Given the description of an element on the screen output the (x, y) to click on. 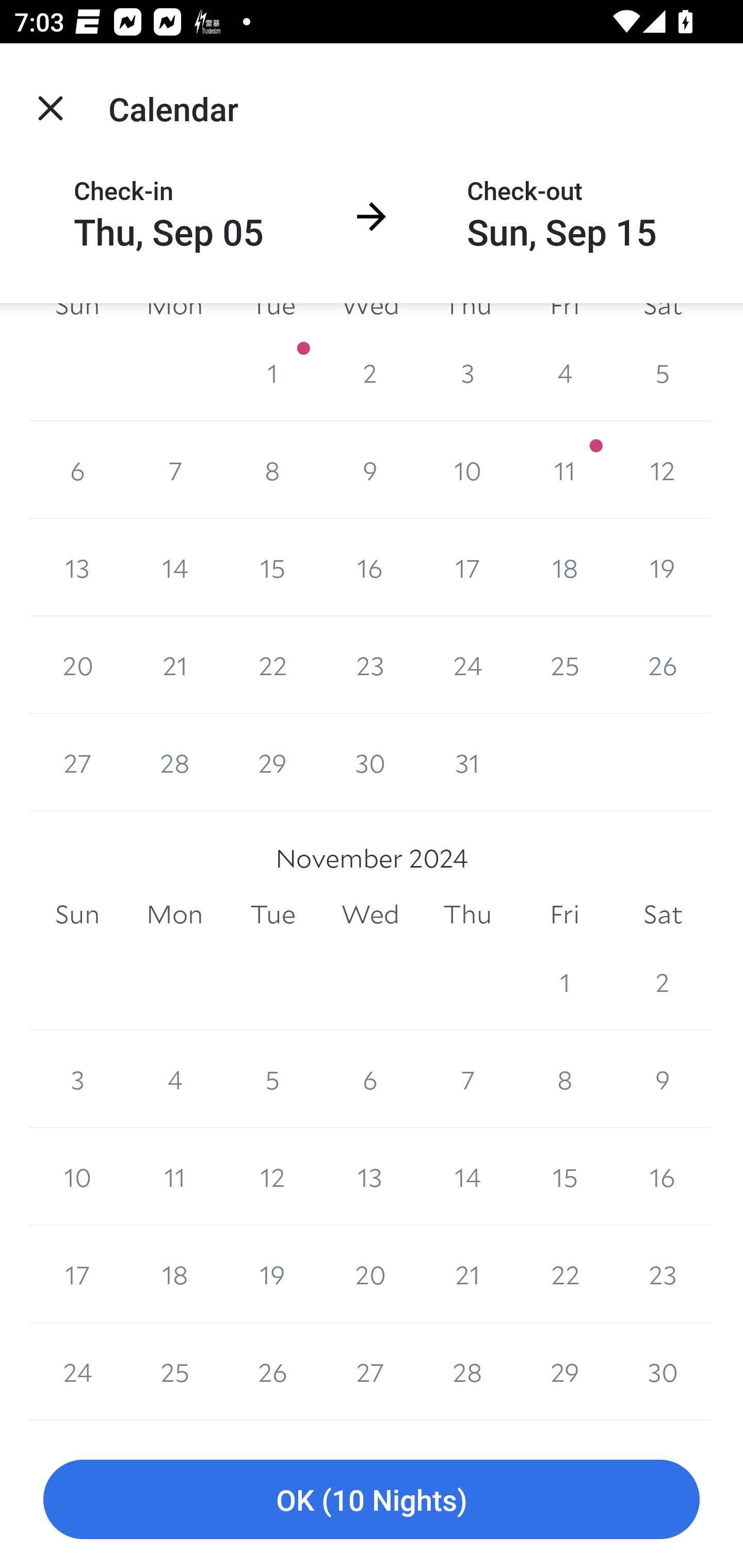
1 1 October 2024 (272, 372)
2 2 October 2024 (370, 372)
3 3 October 2024 (467, 372)
4 4 October 2024 (564, 372)
5 5 October 2024 (662, 372)
6 6 October 2024 (77, 470)
7 7 October 2024 (174, 470)
8 8 October 2024 (272, 470)
9 9 October 2024 (370, 470)
10 10 October 2024 (467, 470)
11 11 October 2024 (564, 470)
12 12 October 2024 (662, 470)
13 13 October 2024 (77, 567)
14 14 October 2024 (174, 567)
15 15 October 2024 (272, 567)
16 16 October 2024 (370, 567)
17 17 October 2024 (467, 567)
18 18 October 2024 (564, 567)
19 19 October 2024 (662, 567)
20 20 October 2024 (77, 664)
21 21 October 2024 (174, 664)
22 22 October 2024 (272, 664)
23 23 October 2024 (370, 664)
24 24 October 2024 (467, 664)
25 25 October 2024 (564, 664)
26 26 October 2024 (662, 664)
27 27 October 2024 (77, 761)
28 28 October 2024 (174, 761)
29 29 October 2024 (272, 761)
30 30 October 2024 (370, 761)
31 31 October 2024 (467, 761)
Sun (77, 913)
Mon (174, 913)
Tue (272, 913)
Wed (370, 913)
Thu (467, 913)
Fri (564, 913)
Sat (662, 913)
1 1 November 2024 (564, 981)
2 2 November 2024 (662, 981)
3 3 November 2024 (77, 1078)
4 4 November 2024 (174, 1078)
5 5 November 2024 (272, 1078)
6 6 November 2024 (370, 1078)
7 7 November 2024 (467, 1078)
8 8 November 2024 (564, 1078)
9 9 November 2024 (662, 1078)
10 10 November 2024 (77, 1176)
11 11 November 2024 (174, 1176)
